Given the description of an element on the screen output the (x, y) to click on. 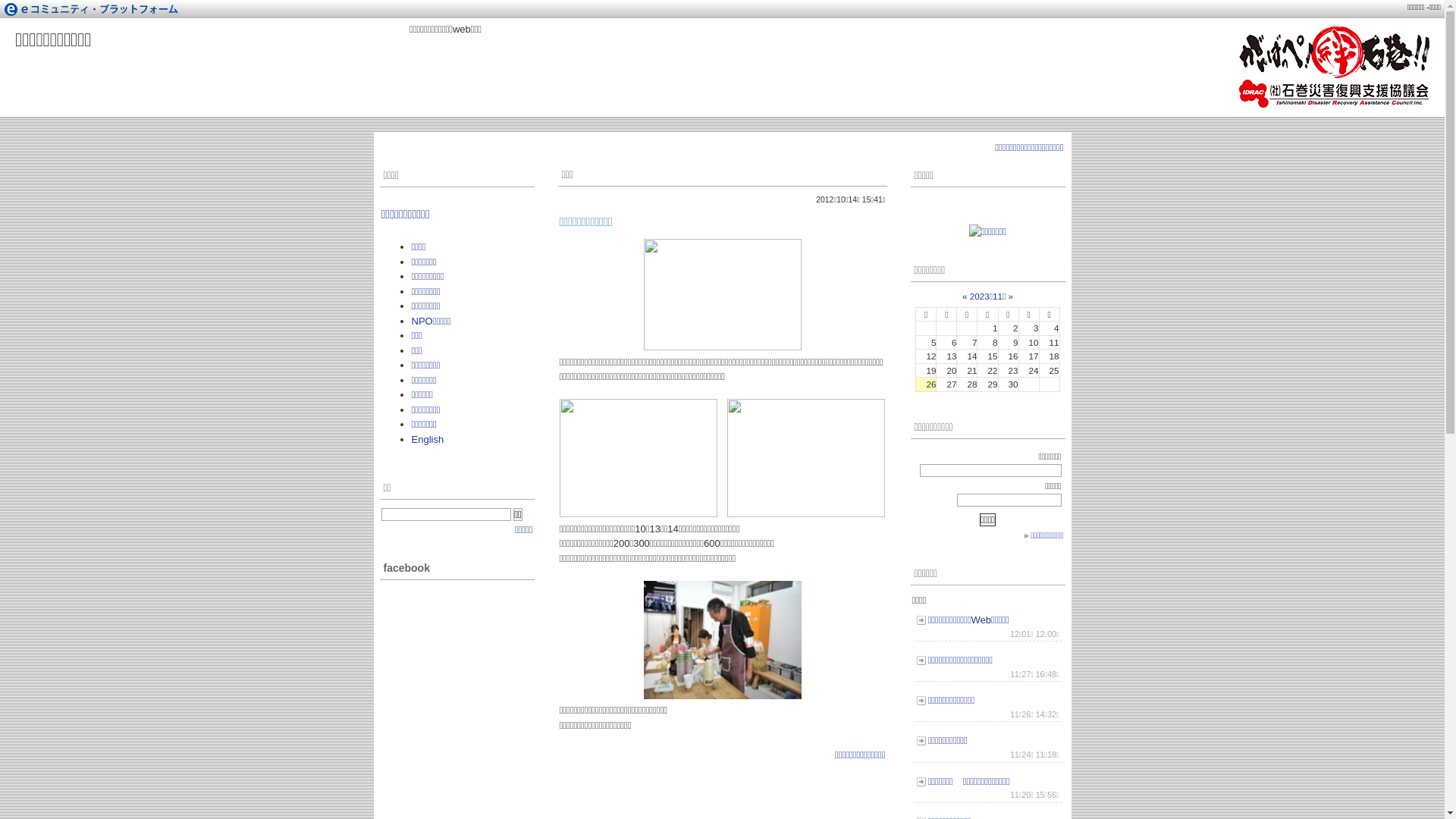
English Element type: text (427, 439)
